Given the description of an element on the screen output the (x, y) to click on. 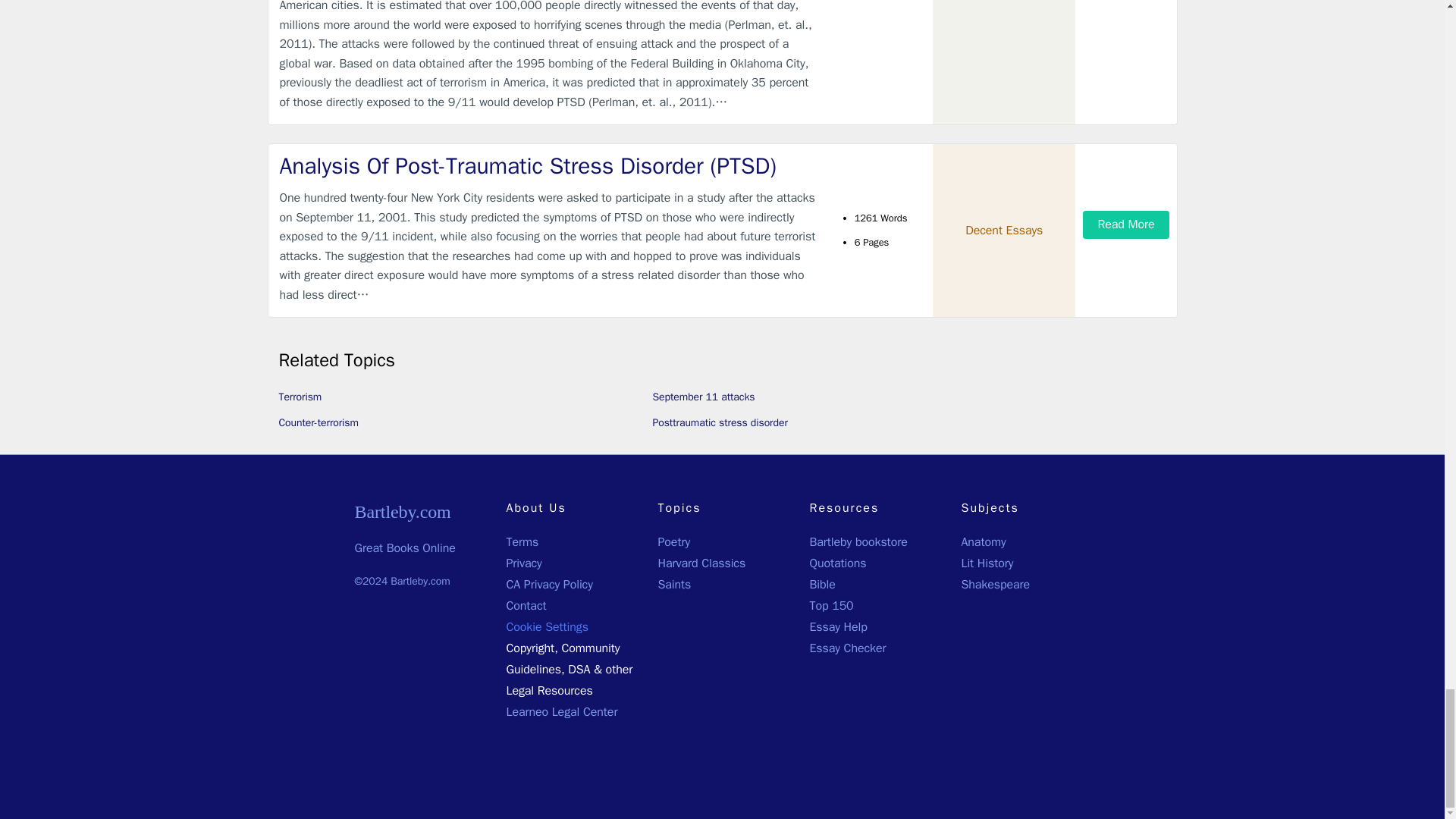
September 11 attacks (703, 396)
Terrorism (300, 396)
Counter-terrorism (318, 422)
Posttraumatic stress disorder (719, 422)
